Given the description of an element on the screen output the (x, y) to click on. 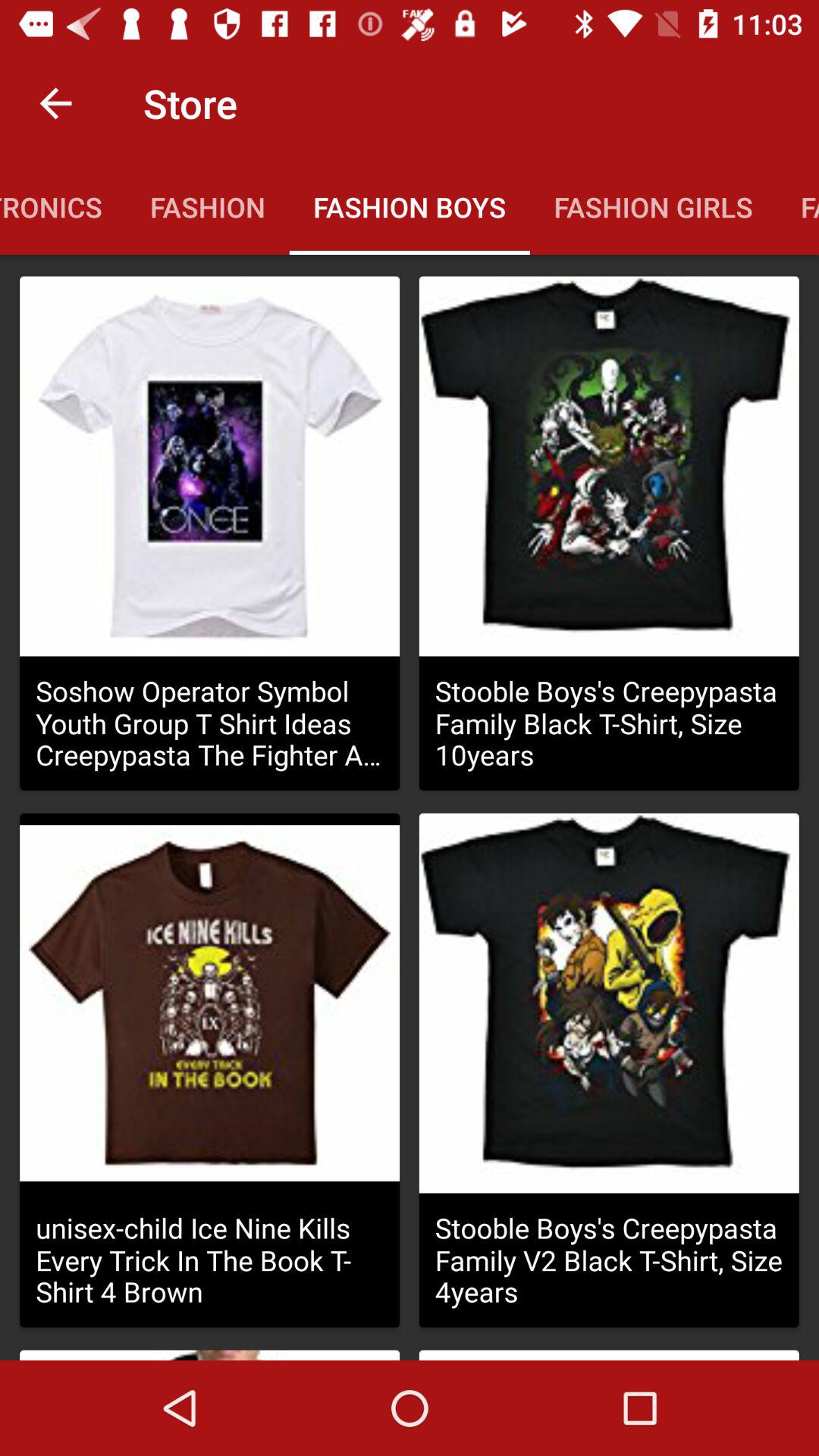
choose item to the left of store (55, 103)
